Given the description of an element on the screen output the (x, y) to click on. 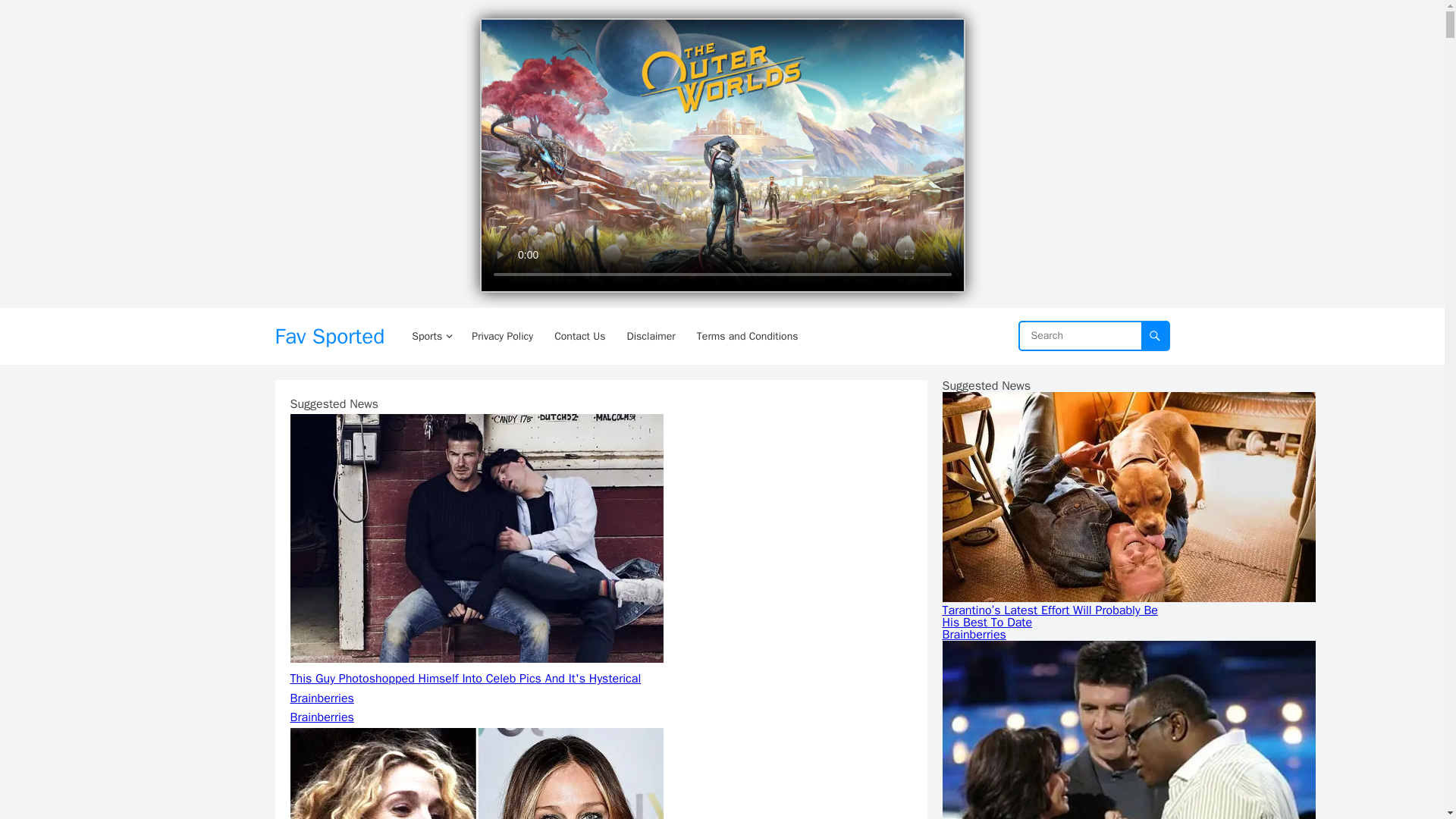
Close (947, 30)
Sports (431, 335)
Privacy Policy (502, 335)
Contact Us (579, 335)
Close (947, 30)
Terms and Conditions (747, 335)
Disclaimer (650, 335)
Fav Sported (329, 335)
